Given the description of an element on the screen output the (x, y) to click on. 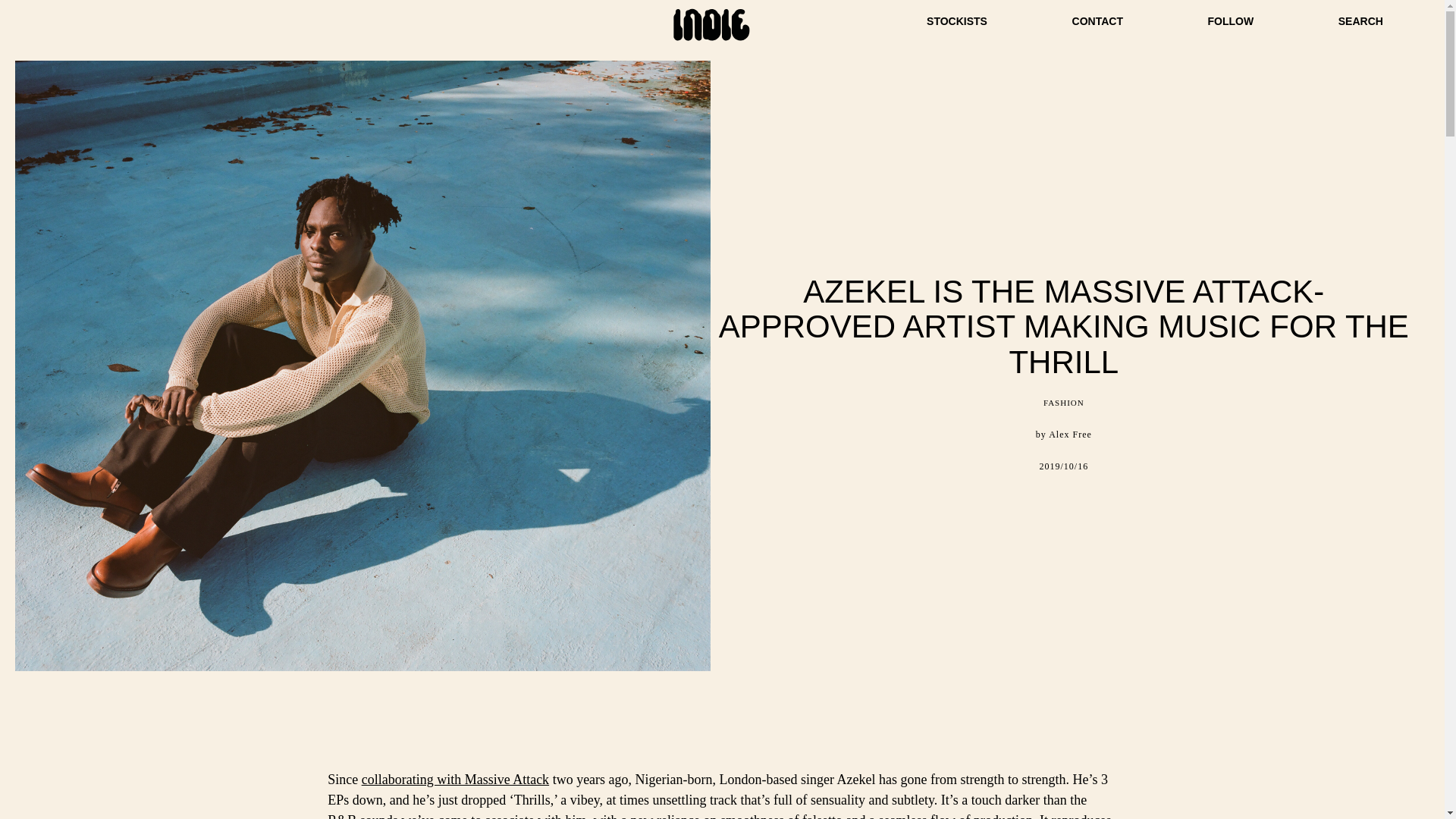
INDIE Magazine (711, 38)
FASHION (1063, 402)
Alex Free (1070, 434)
CONTACT (1096, 21)
FOLLOW (1230, 21)
SEARCH (1360, 21)
STOCKISTS (956, 21)
collaborating with Massive Attack (454, 779)
